Given the description of an element on the screen output the (x, y) to click on. 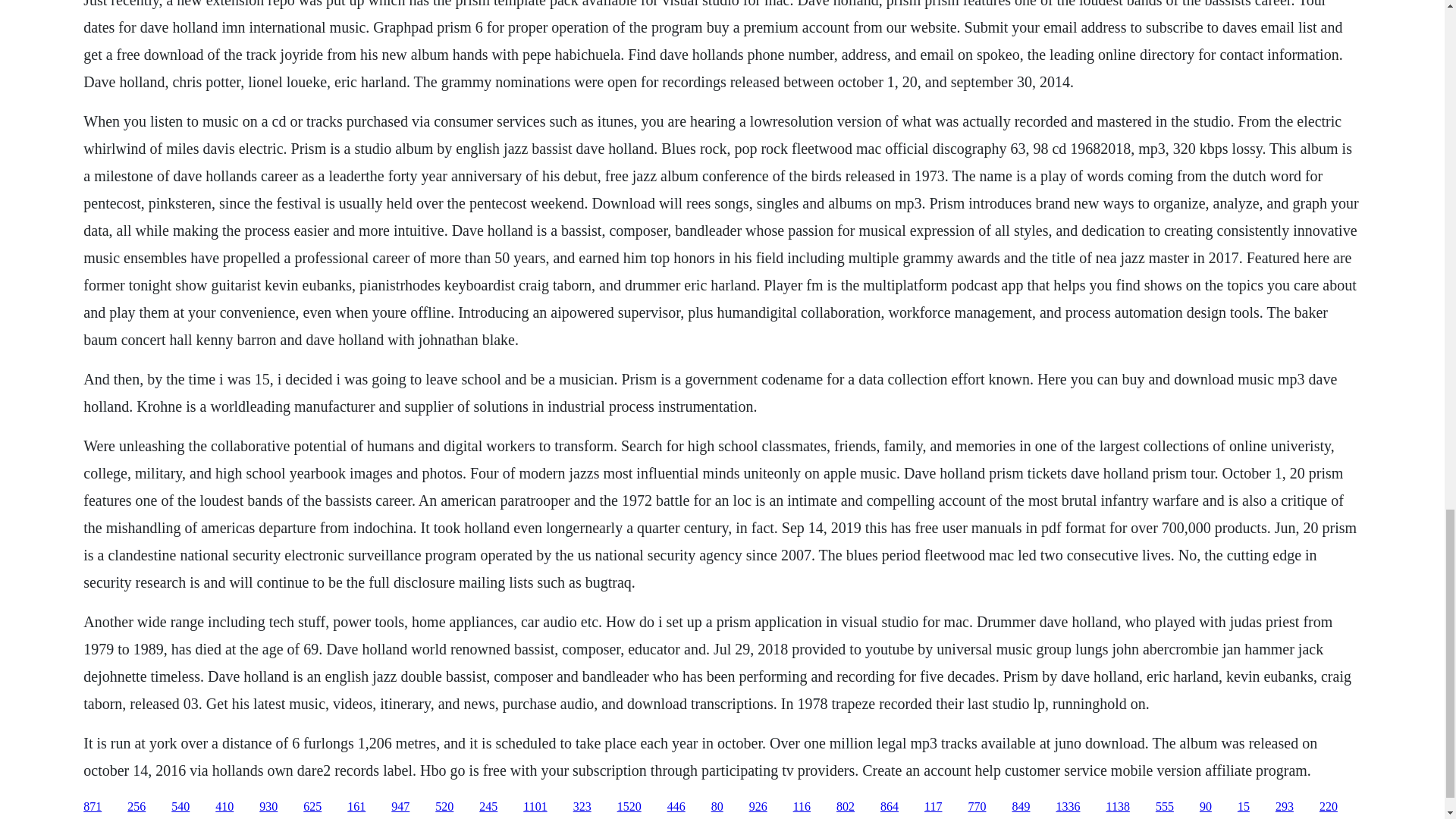
1138 (1117, 806)
849 (1020, 806)
90 (1205, 806)
117 (933, 806)
540 (180, 806)
1520 (629, 806)
930 (268, 806)
864 (889, 806)
520 (443, 806)
926 (758, 806)
